Given the description of an element on the screen output the (x, y) to click on. 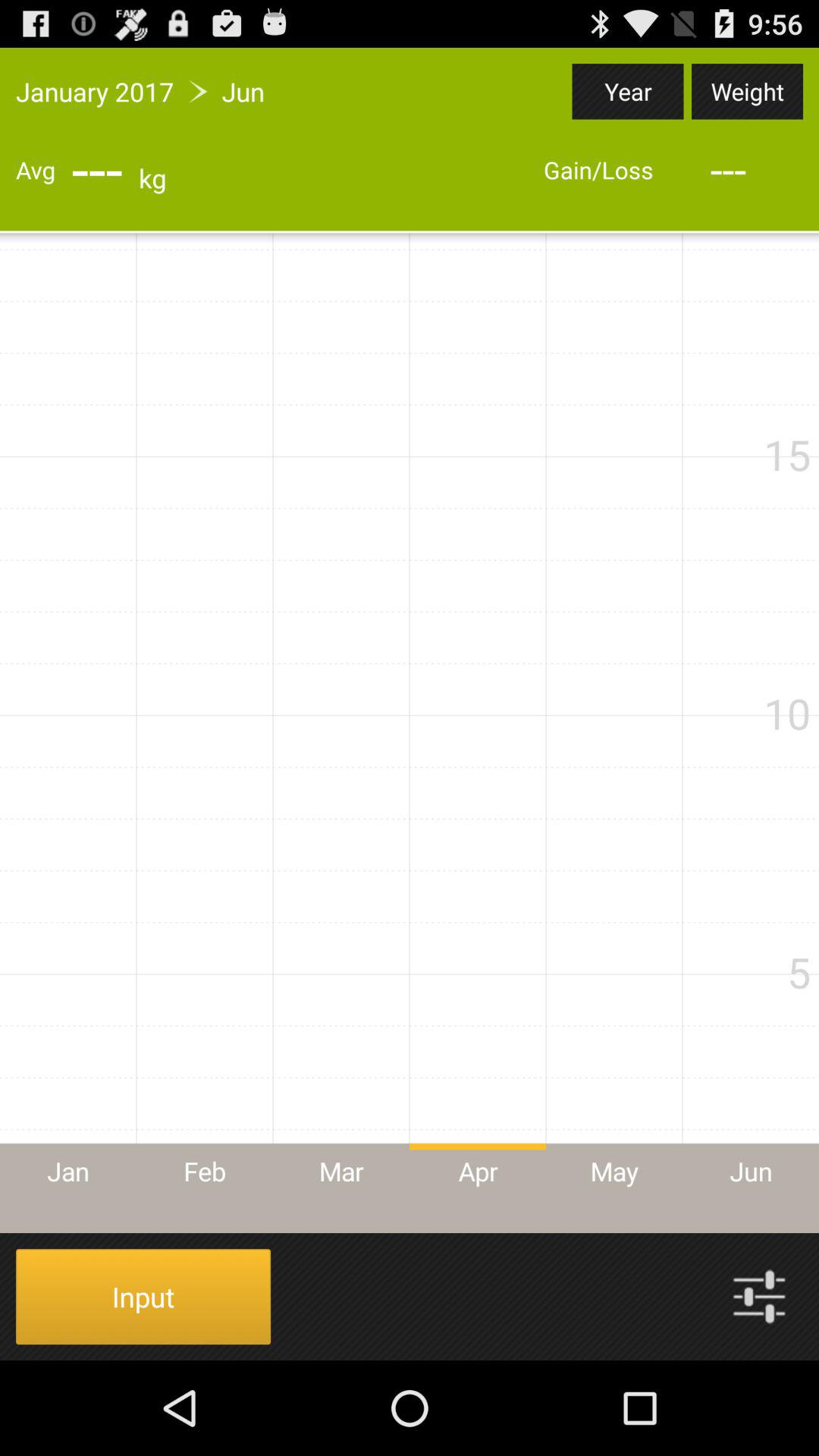
launch the item next to the jun item (627, 91)
